Given the description of an element on the screen output the (x, y) to click on. 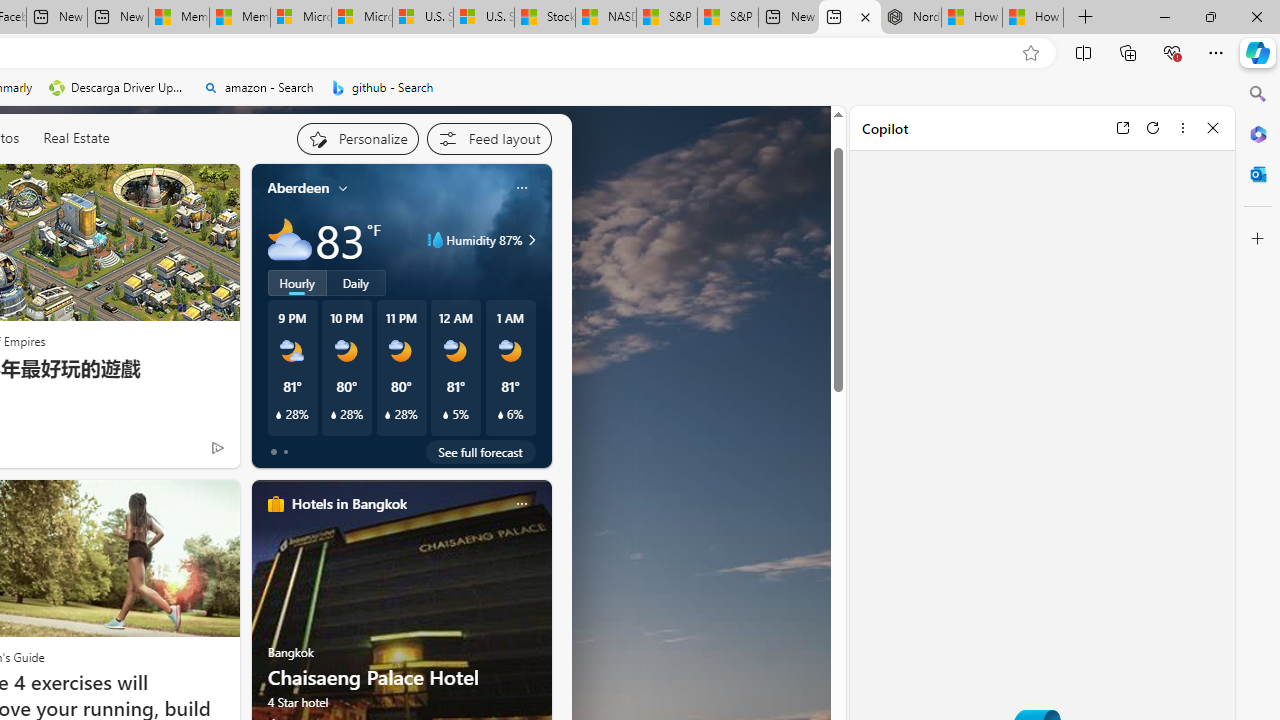
tab-1 (285, 451)
Aberdeen (298, 188)
Open link in new tab (1122, 127)
More options (1182, 127)
